Given the description of an element on the screen output the (x, y) to click on. 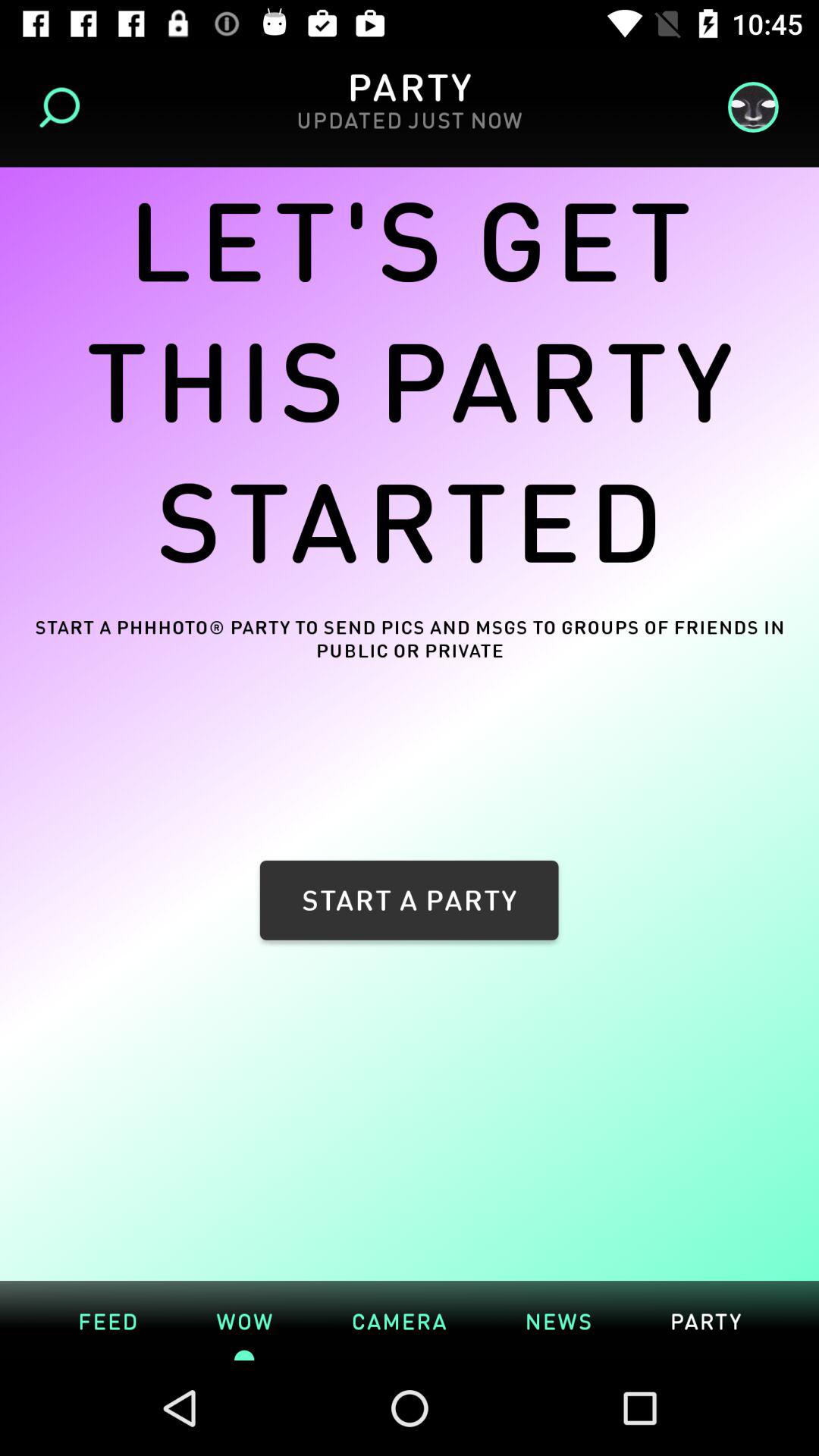
press icon below start a phhhoto item (107, 1320)
